Given the description of an element on the screen output the (x, y) to click on. 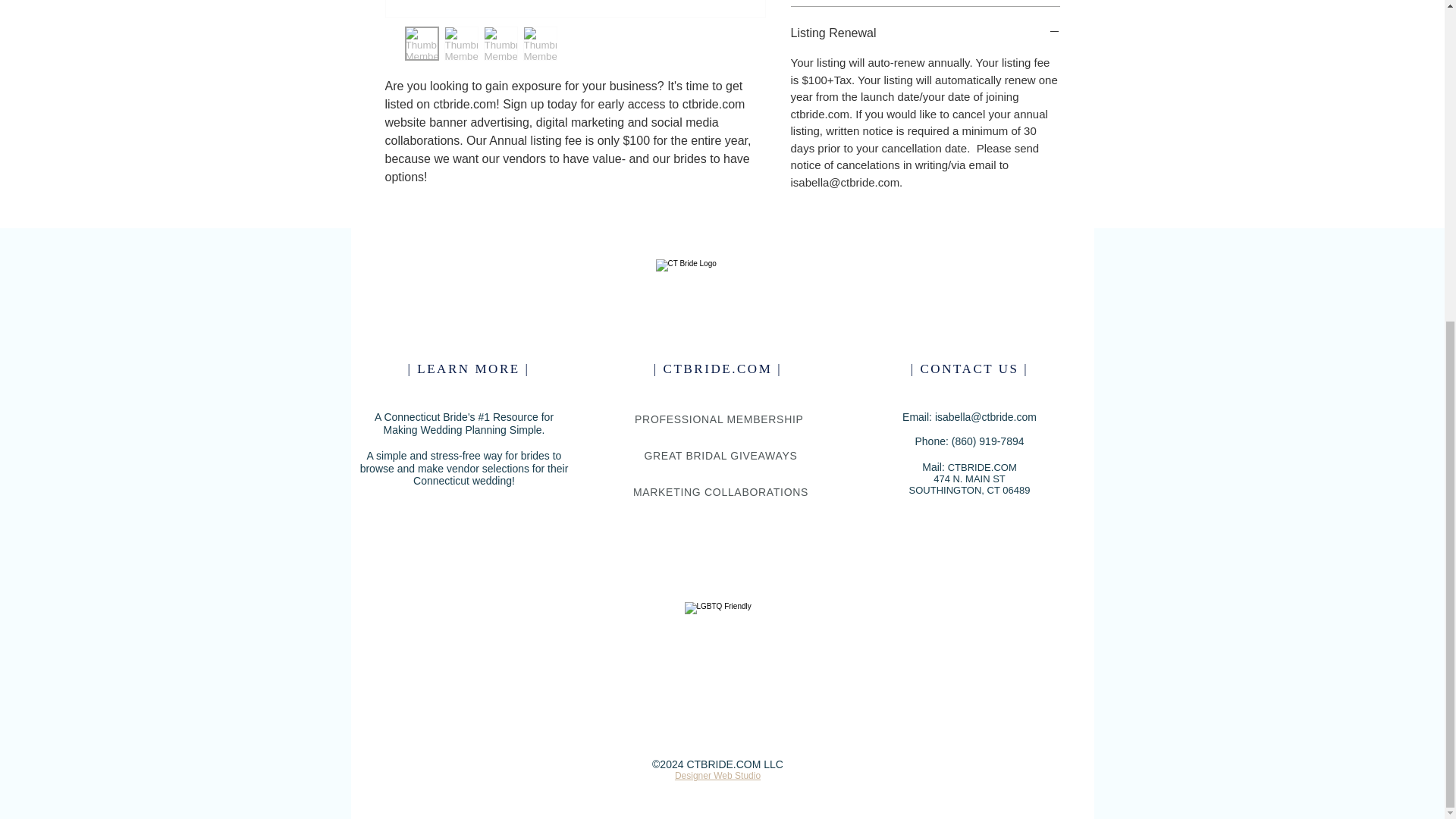
GREAT BRIDAL GIVEAWAYS (719, 455)
Designer Web Studio (717, 775)
Listing Renewal (924, 33)
MARKETING COLLABORATIONS (720, 491)
PROFESSIONAL MEMBERSHIP  (720, 419)
